Given the description of an element on the screen output the (x, y) to click on. 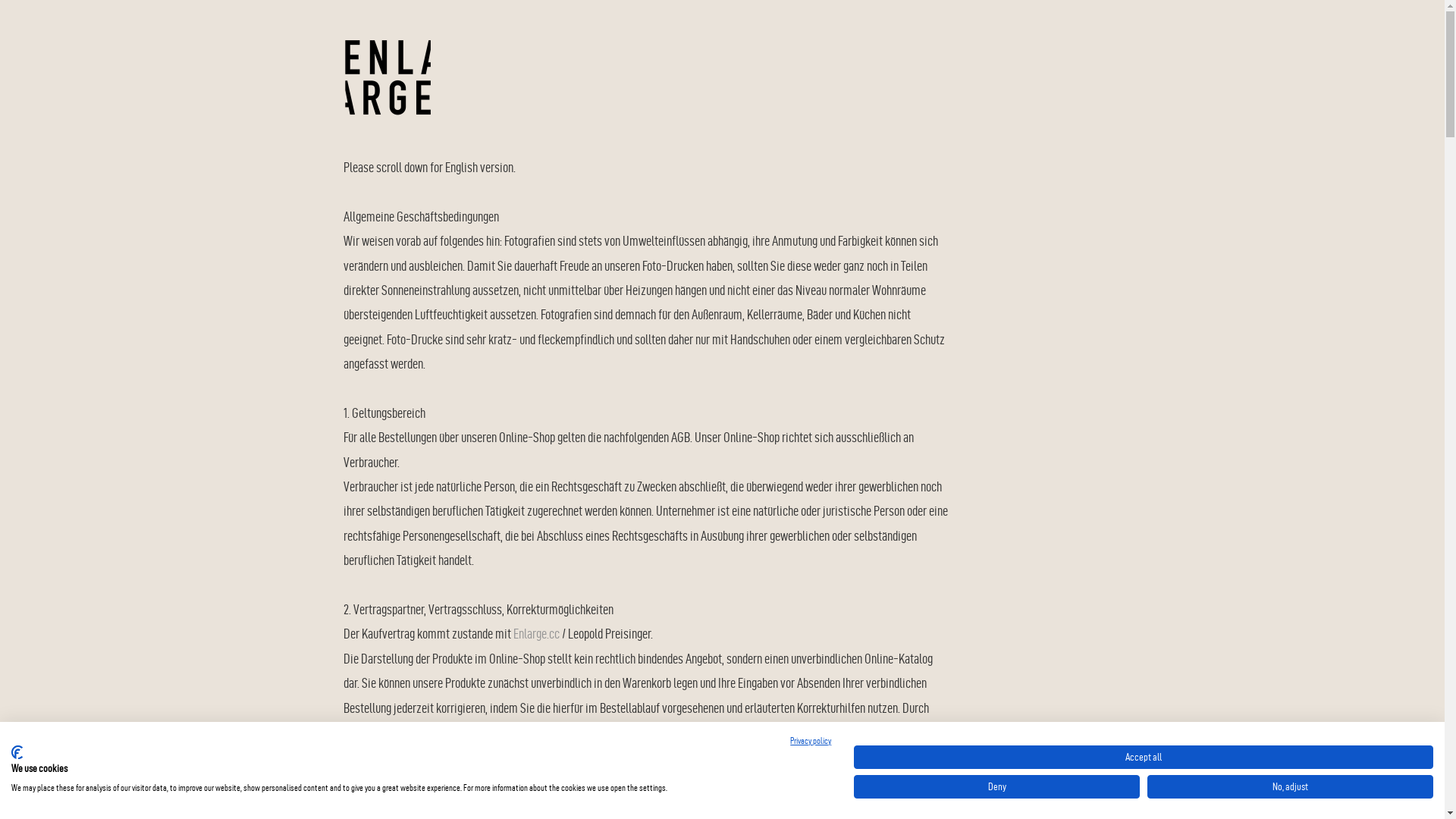
Accept all Element type: text (1143, 756)
Deny Element type: text (996, 786)
Privacy policy Element type: text (810, 740)
Enlarge.cc Element type: text (535, 633)
No, adjust Element type: text (1290, 786)
